Given the description of an element on the screen output the (x, y) to click on. 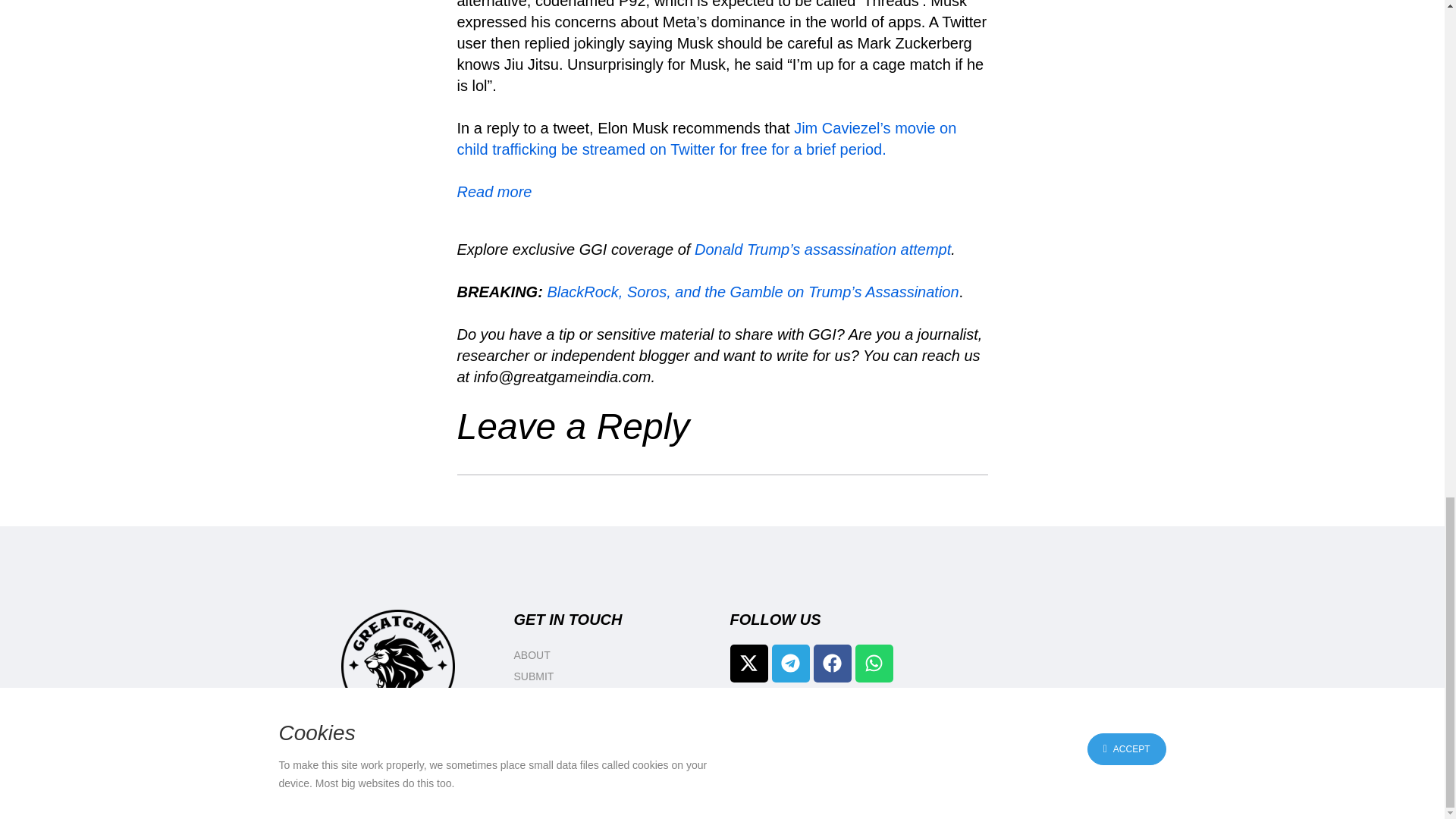
SUBMIT (613, 676)
PRIVACY POLICY (613, 740)
ABOUT (613, 654)
Read more (494, 191)
CONTACT US (613, 718)
